Given the description of an element on the screen output the (x, y) to click on. 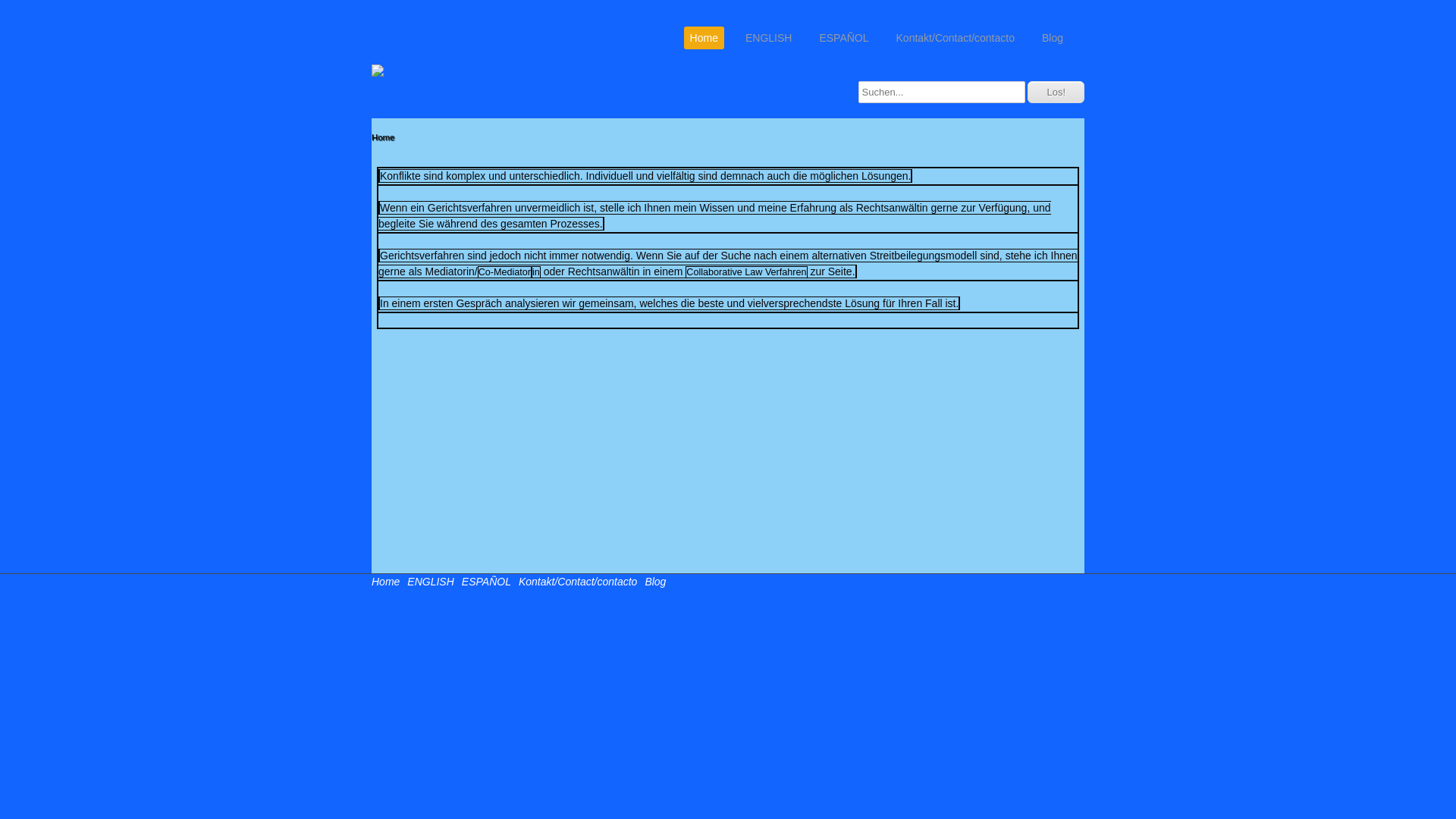
Co-Mediator Element type: text (504, 272)
Kontakt/Contact/contacto Element type: text (577, 581)
ENGLISH Element type: text (768, 37)
in Element type: text (535, 272)
Home Element type: text (704, 37)
ENGLISH Element type: text (430, 581)
Home Element type: text (385, 581)
Blog Element type: text (1052, 37)
Collaborative Law Verfahren Element type: text (745, 272)
Kontakt/Contact/contacto Element type: text (955, 37)
Los! Element type: text (1055, 92)
Blog Element type: text (654, 581)
